Given the description of an element on the screen output the (x, y) to click on. 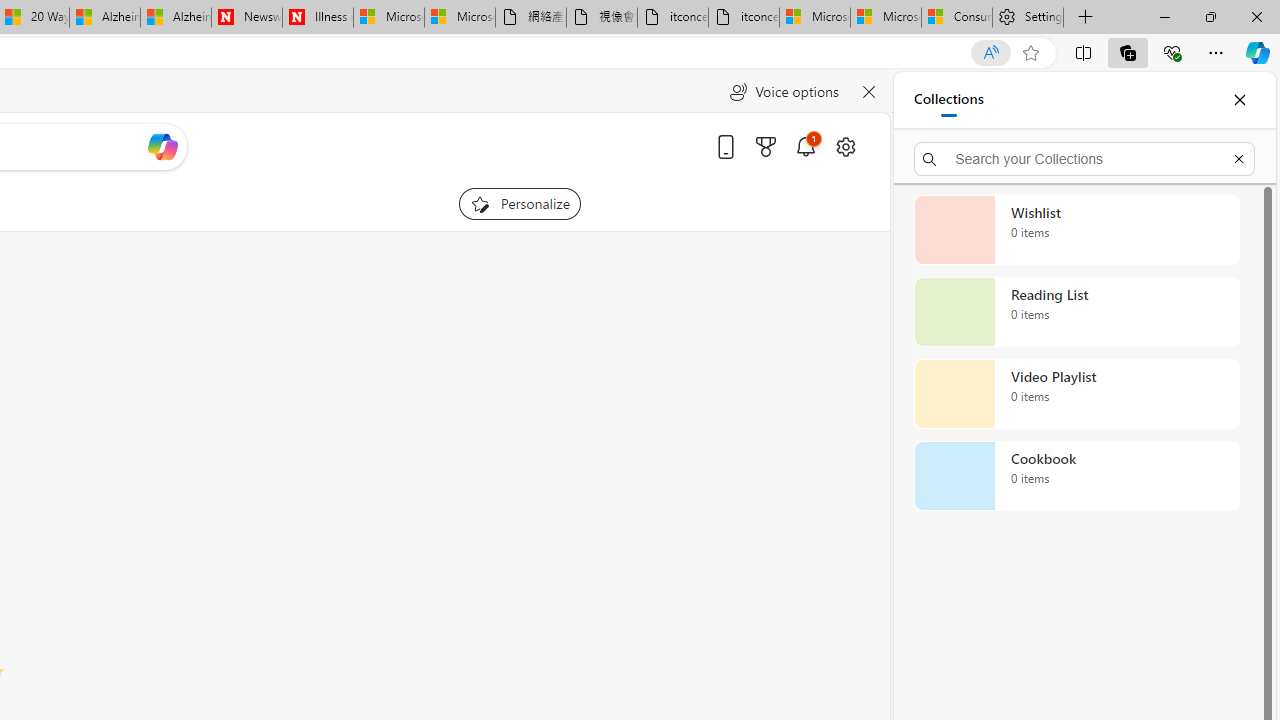
Illness news & latest pictures from Newsweek.com (317, 17)
Newsweek - News, Analysis, Politics, Business, Technology (246, 17)
Video Playlist collection, 0 items (1076, 394)
Wishlist collection, 0 items (1076, 229)
